Given the description of an element on the screen output the (x, y) to click on. 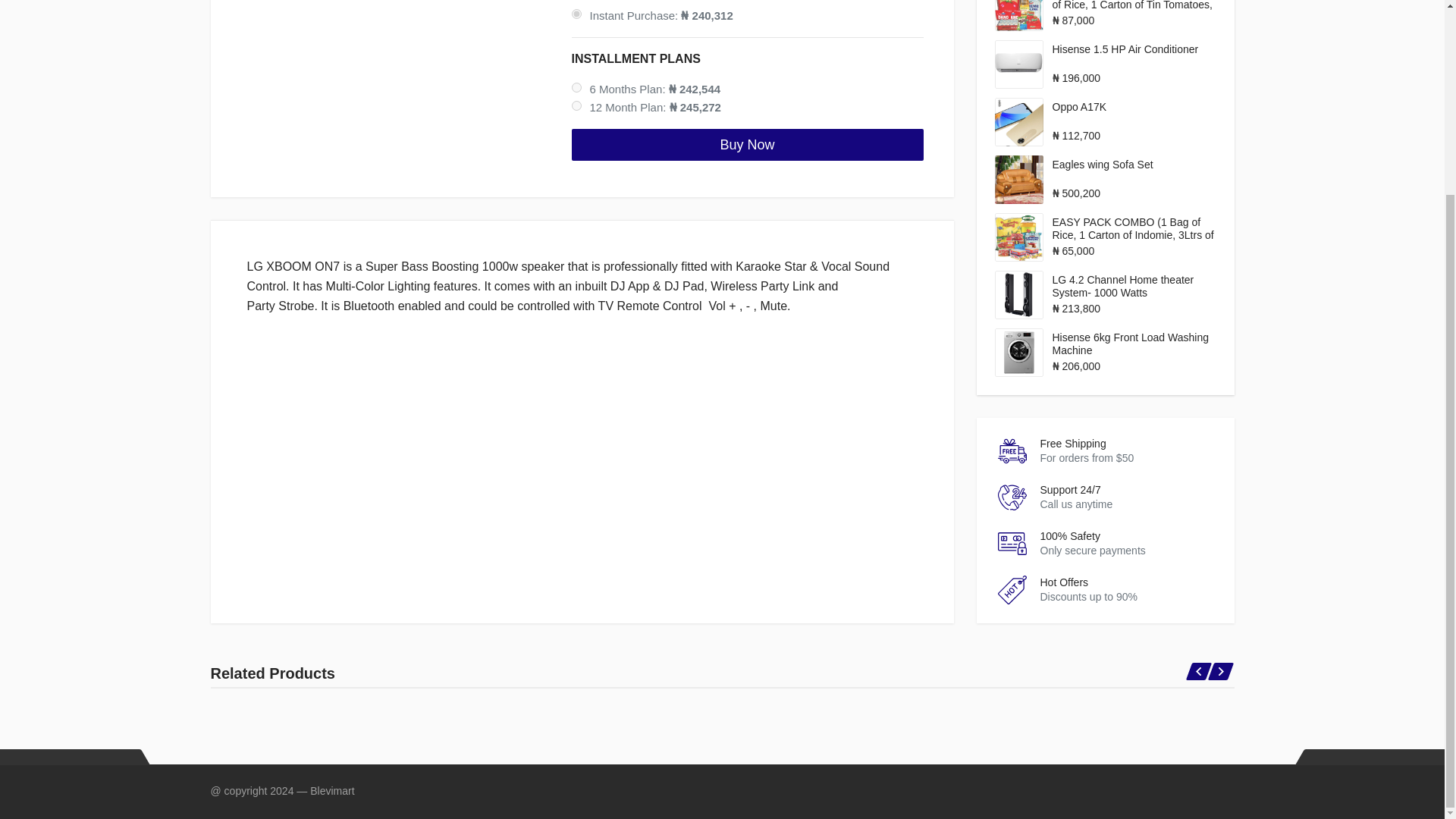
Instant (576, 13)
Monthly (576, 105)
6-Months (576, 87)
Buy Now (747, 144)
